Given the description of an element on the screen output the (x, y) to click on. 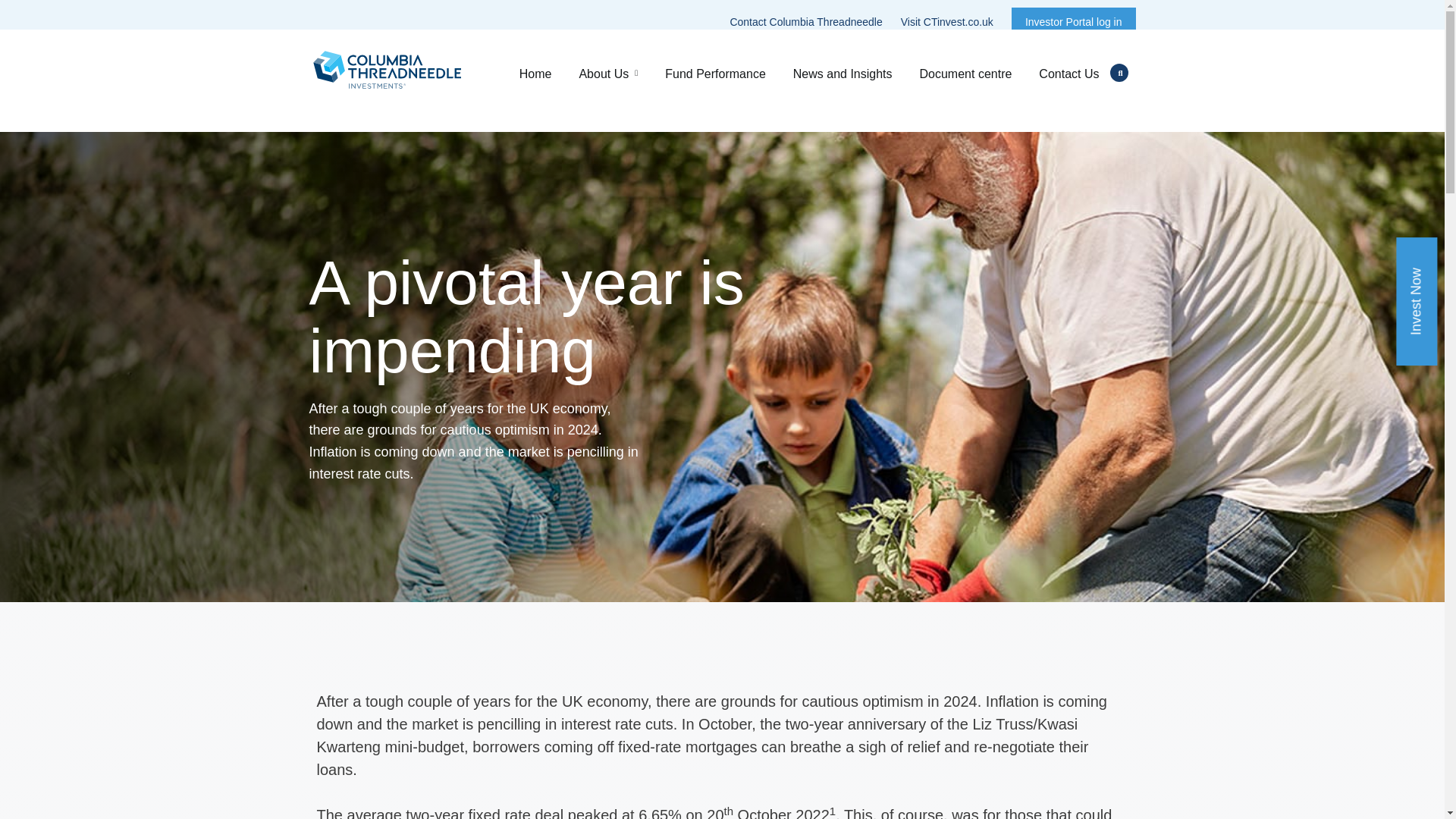
Investor Portal log in (1073, 21)
Fund Performance (714, 72)
Contact Us (1070, 72)
Contact Columbia Threadneedle (805, 21)
About Us (607, 72)
Visit CTinvest.co.uk (951, 21)
News and Insights (841, 72)
Document centre (965, 72)
